Given the description of an element on the screen output the (x, y) to click on. 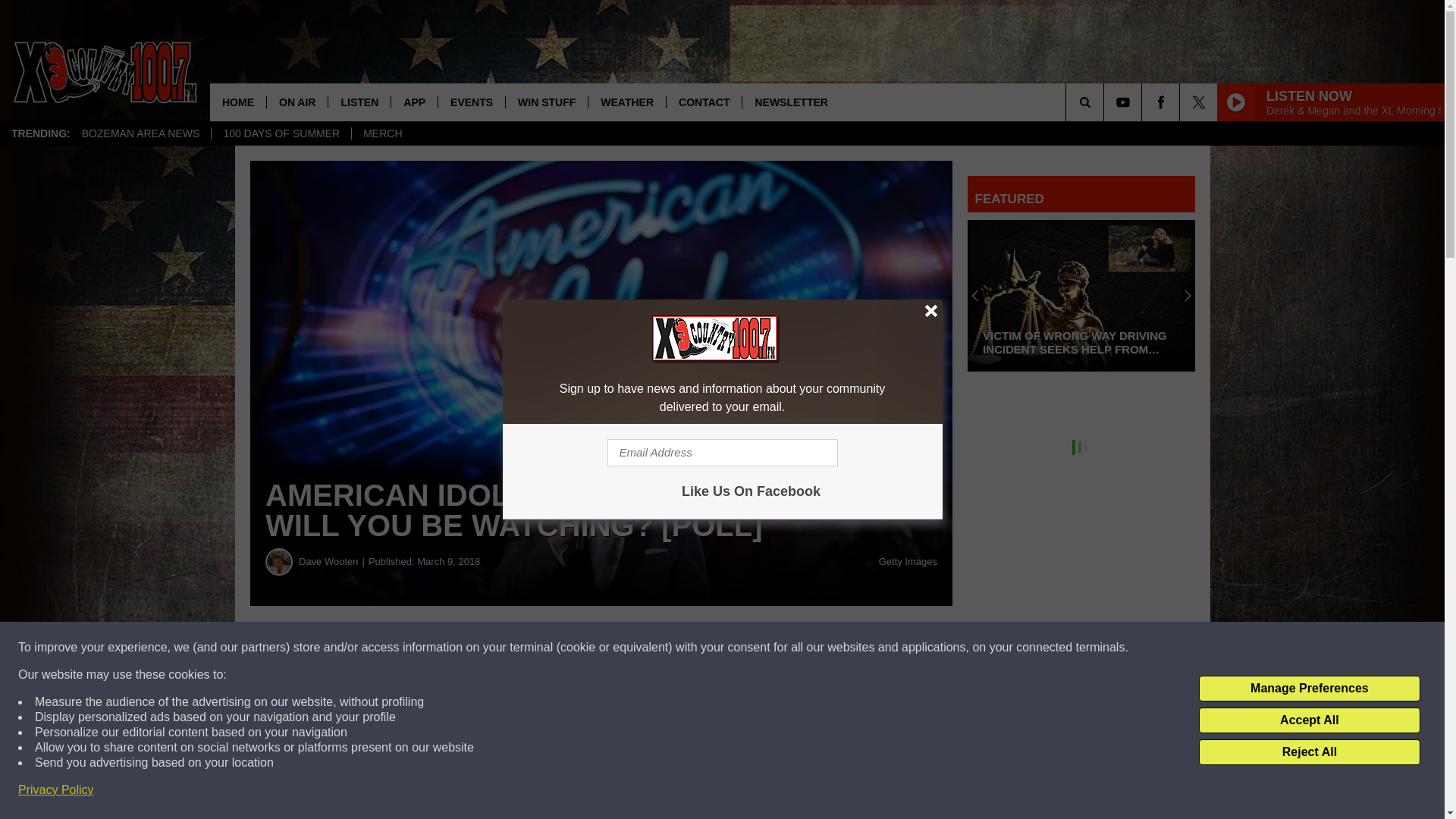
CONTACT (703, 102)
Share on Facebook (460, 647)
Reject All (1309, 751)
MERCH (381, 133)
Accept All (1309, 720)
ON AIR (296, 102)
SEARCH (1106, 102)
LISTEN (358, 102)
BOZEMAN AREA NEWS (140, 133)
Manage Preferences (1309, 688)
APP (414, 102)
Email Address (722, 452)
SEARCH (1106, 102)
HOME (237, 102)
EVENTS (471, 102)
